Given the description of an element on the screen output the (x, y) to click on. 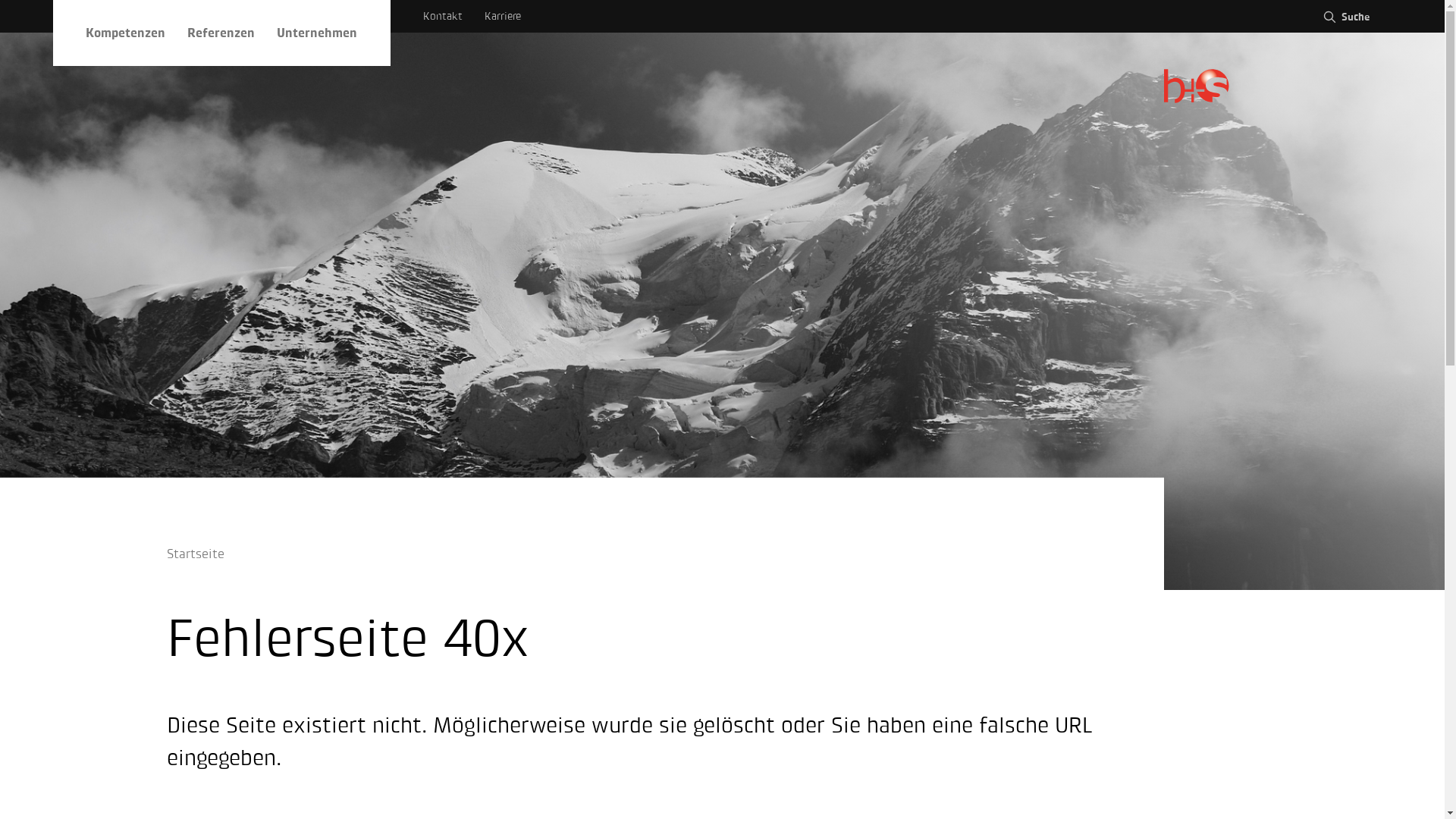
Referenzen Element type: text (220, 32)
Karriere Element type: text (502, 16)
Kompetenzen Element type: text (125, 32)
Unternehmen Element type: text (316, 32)
Suche Element type: text (1345, 16)
Kontakt Element type: text (442, 16)
